Given the description of an element on the screen output the (x, y) to click on. 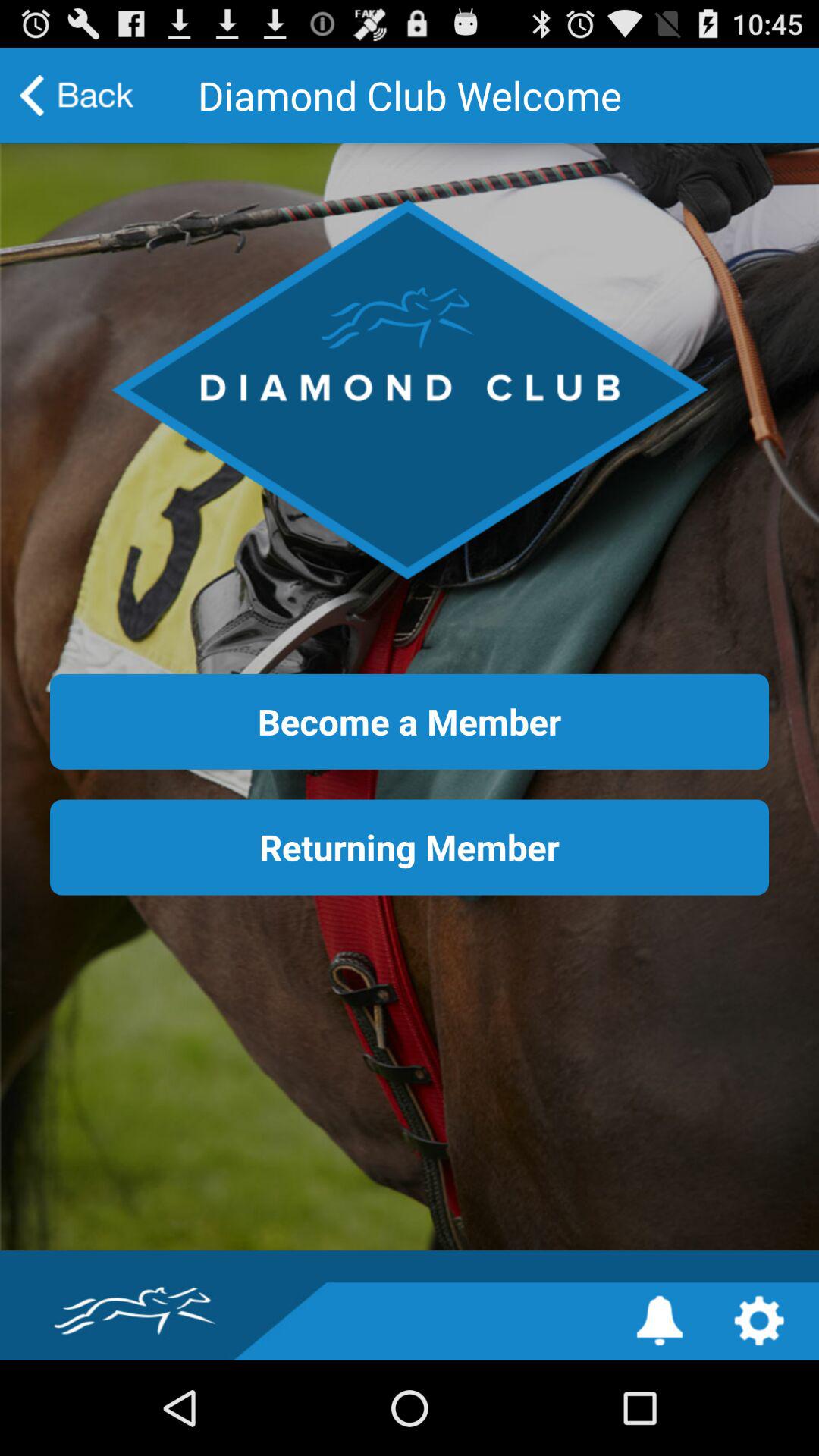
settings the article (759, 1320)
